Given the description of an element on the screen output the (x, y) to click on. 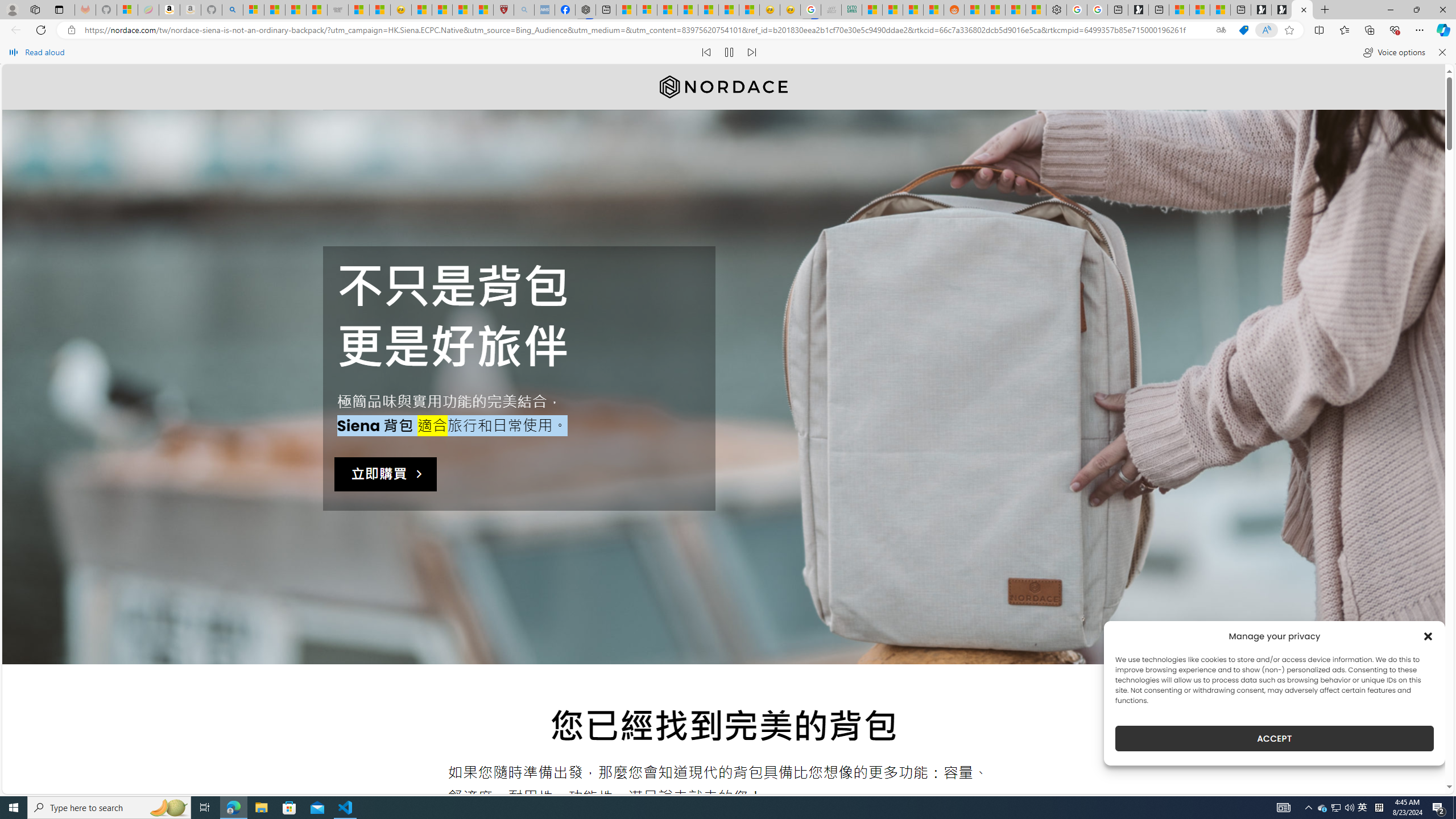
These 3 Stocks Pay You More Than 5% to Own Them (1219, 9)
Stocks - MSN (913, 9)
MSNBC - MSN (871, 9)
Read next paragraph (750, 52)
NCL Adult Asthma Inhaler Choice Guideline - Sleeping (544, 9)
Recipes - MSN (421, 9)
Combat Siege (337, 9)
